Given the description of an element on the screen output the (x, y) to click on. 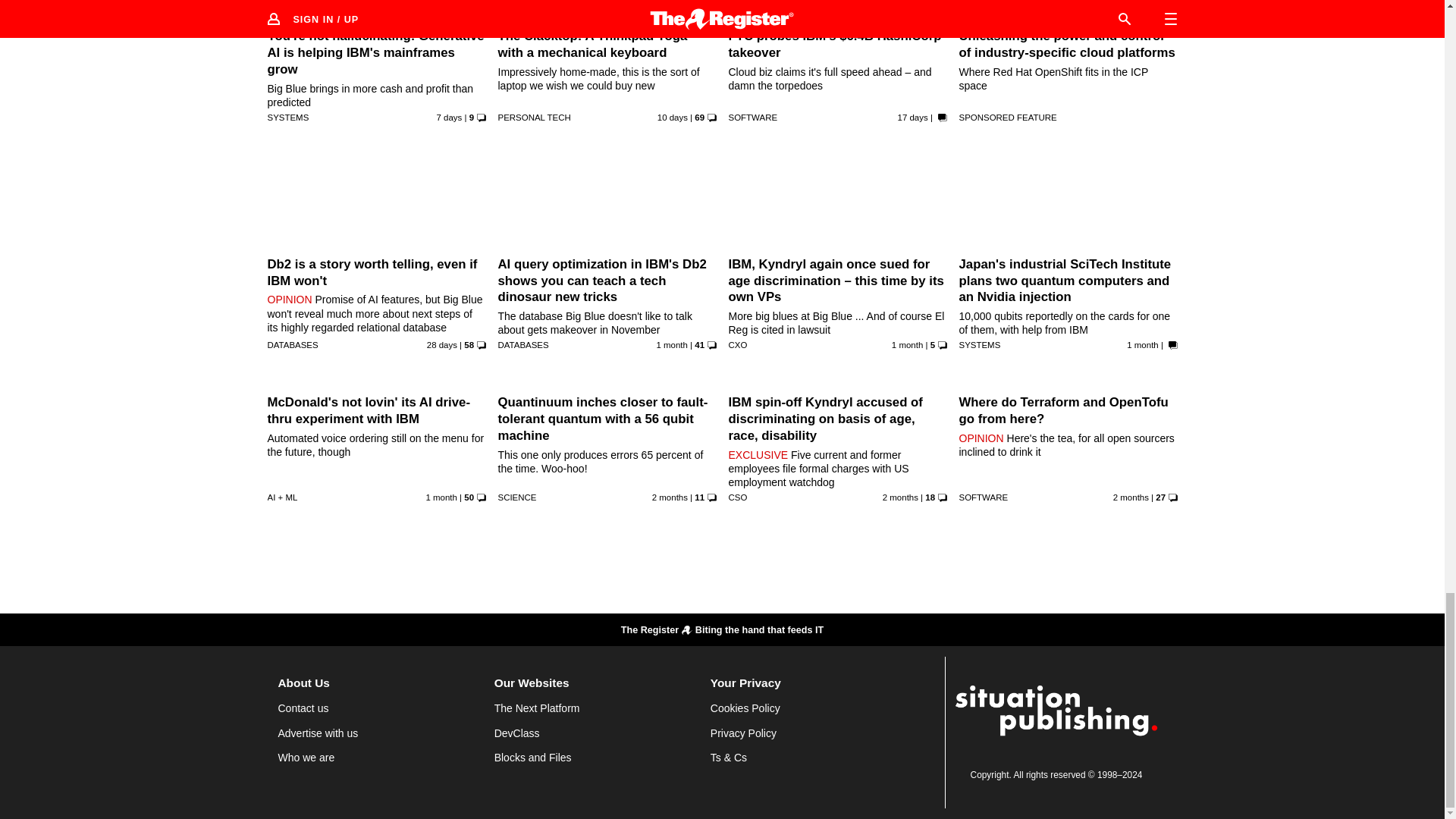
22 Jul 2024 11:15 (672, 117)
27 Jun 2024 16:29 (671, 344)
25 Jul 2024 6:33 (449, 117)
4 Jul 2024 14:22 (441, 344)
20 Jun 2024 19:44 (907, 344)
15 Jul 2024 19:20 (913, 117)
